Given the description of an element on the screen output the (x, y) to click on. 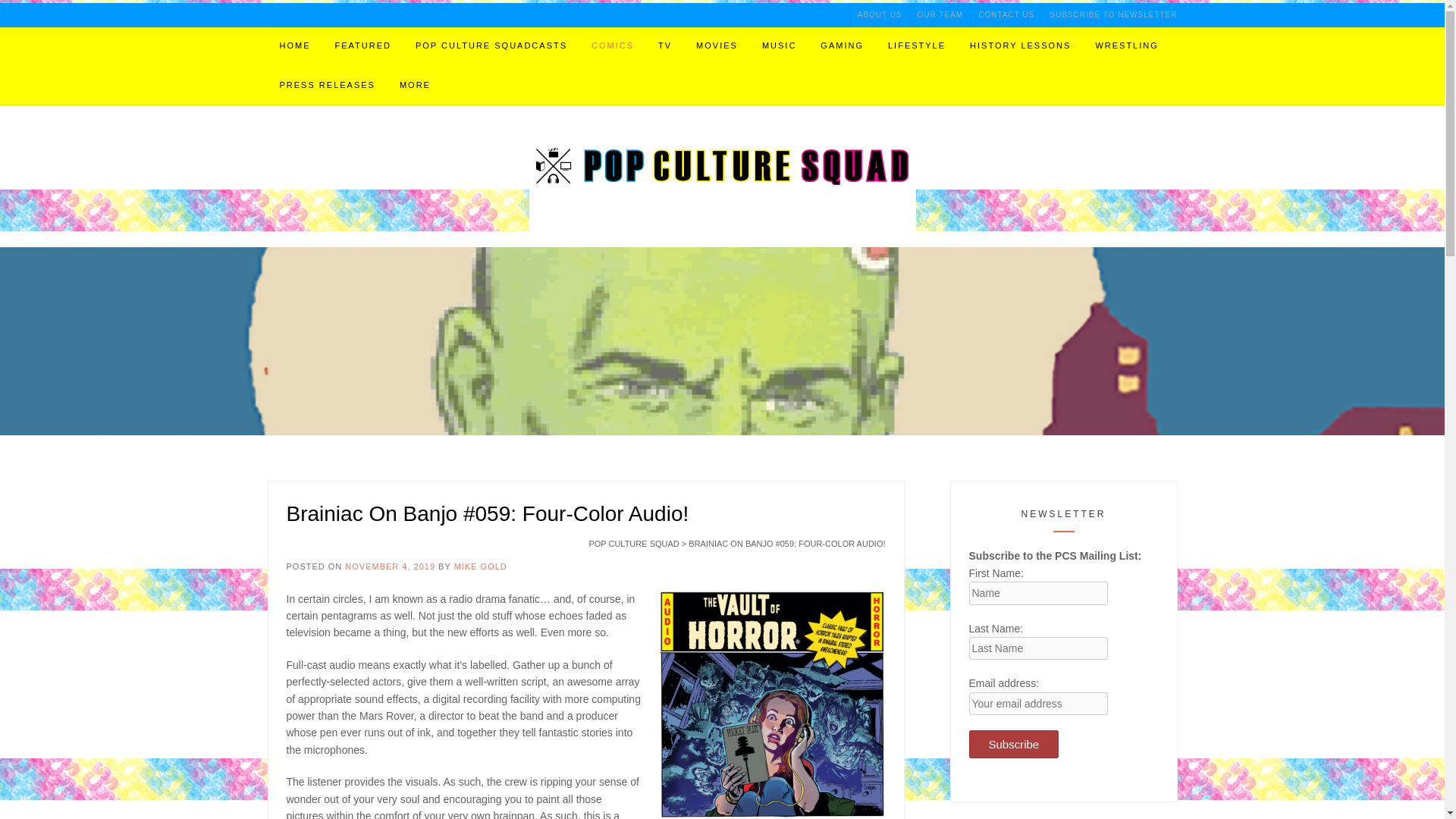
CONTACT US (1006, 14)
Go to Pop Culture Squad. (633, 542)
SUBSCRIBE TO NEWSLETTER (1109, 14)
HOME (293, 46)
Subscribe (1014, 744)
OUR TEAM (940, 14)
TV (665, 46)
COMICS (612, 46)
POP CULTURE SQUADCASTS (491, 46)
ABOUT US (880, 14)
